Given the description of an element on the screen output the (x, y) to click on. 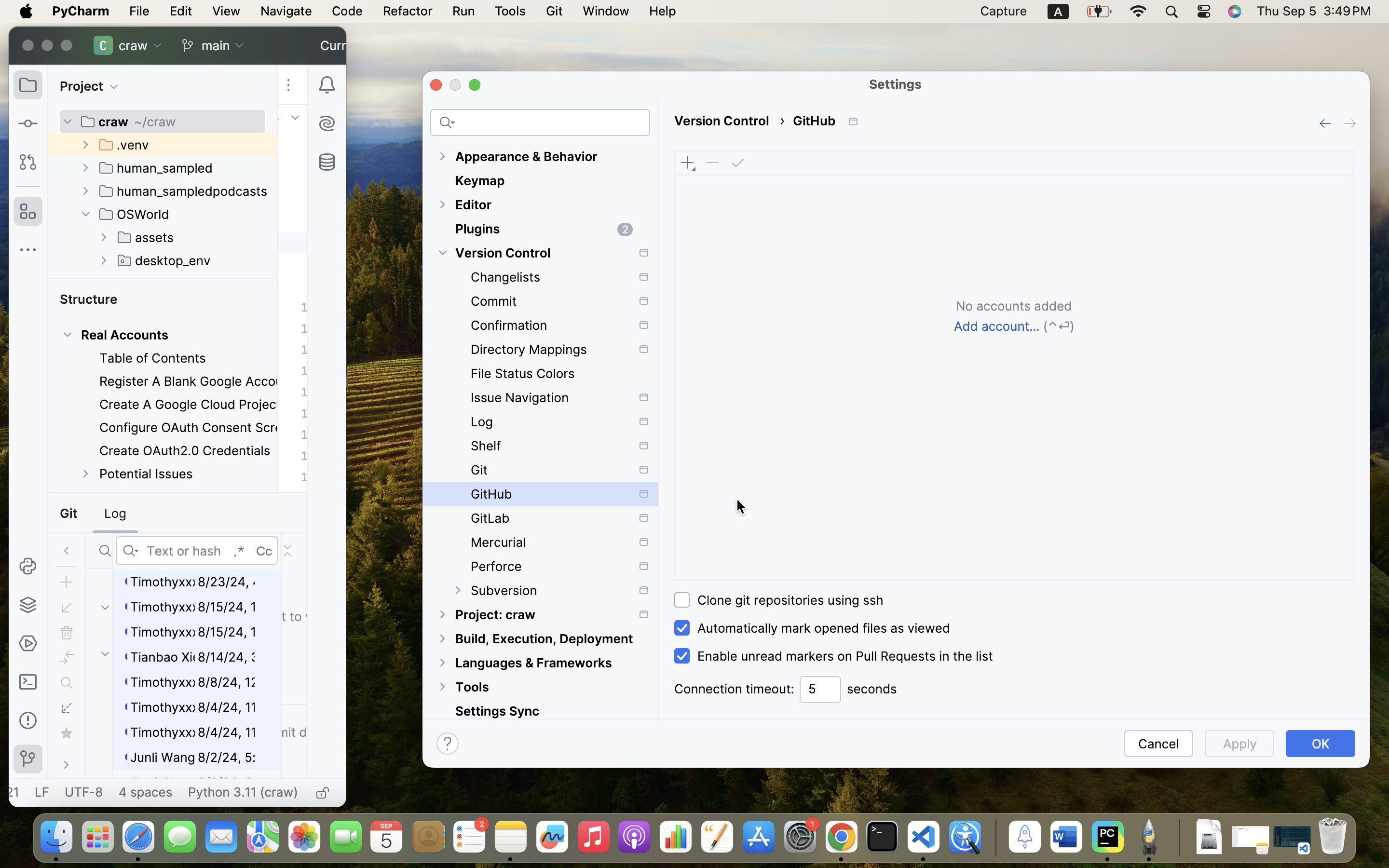
1 Element type: AXCheckBox (831, 656)
0.4285714328289032 Element type: AXDockItem (993, 837)
seconds Element type: AXStaticText (871, 688)
Connection timeout: Element type: AXStaticText (733, 688)
